Given the description of an element on the screen output the (x, y) to click on. 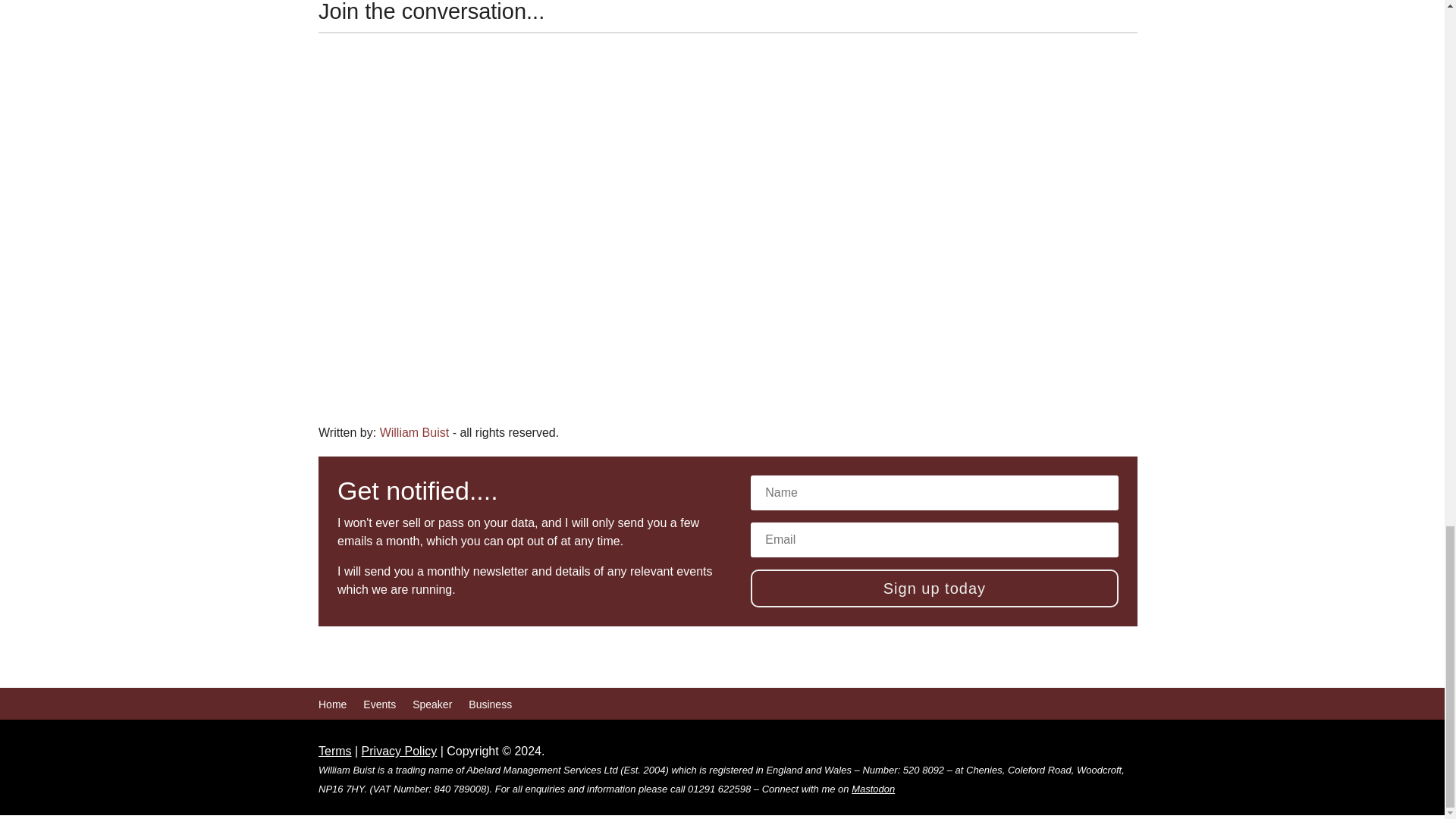
Events (379, 707)
Speaker (431, 707)
Mastodon (873, 788)
William Buist (414, 431)
Business (490, 707)
Home (332, 707)
Privacy Policy (399, 750)
Terms (335, 750)
Sign up today (934, 588)
